Given the description of an element on the screen output the (x, y) to click on. 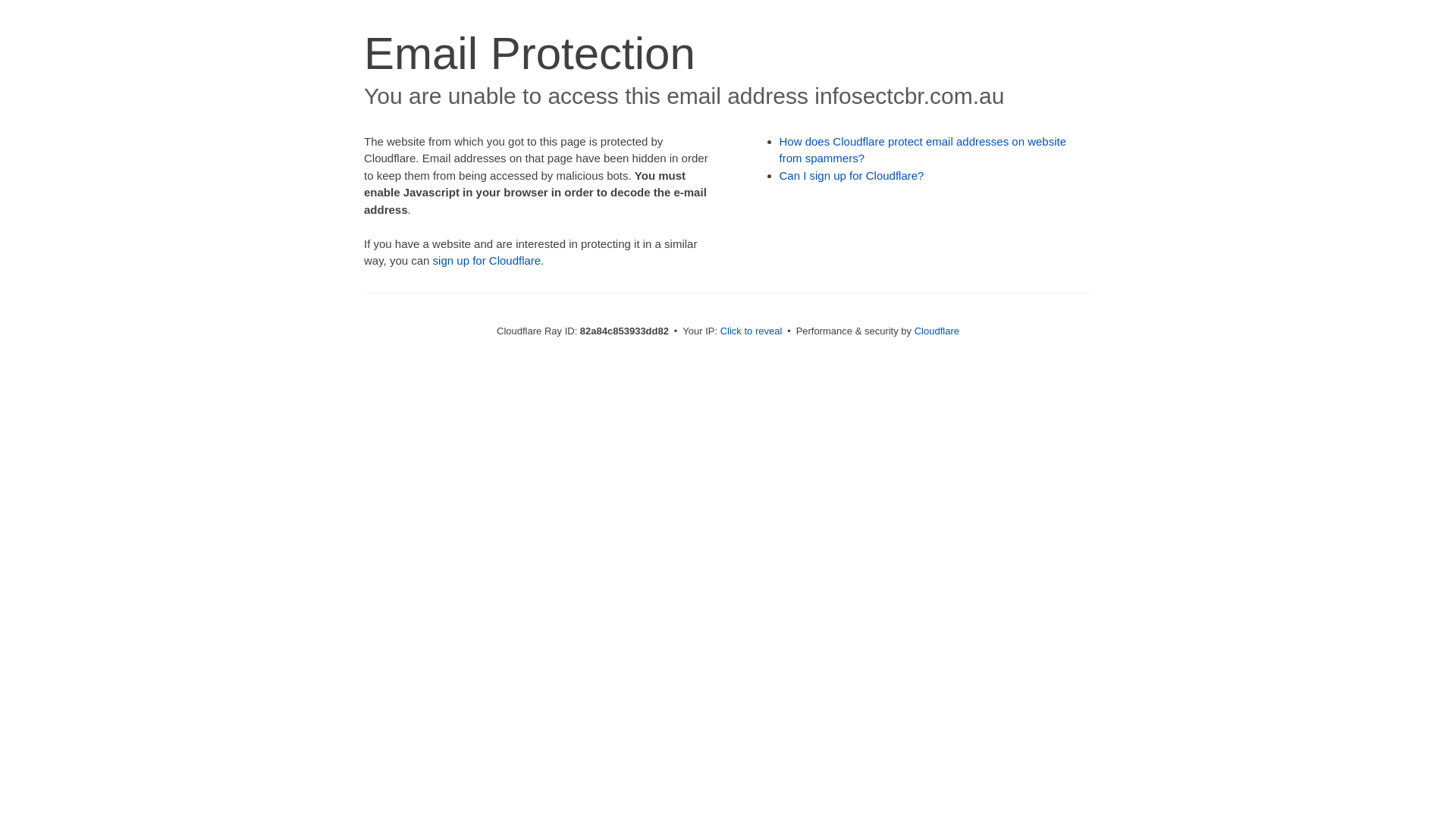
Cloudflare Element type: text (936, 330)
sign up for Cloudflare Element type: text (487, 260)
Click to reveal Element type: text (751, 330)
Can I sign up for Cloudflare? Element type: text (851, 175)
